Given the description of an element on the screen output the (x, y) to click on. 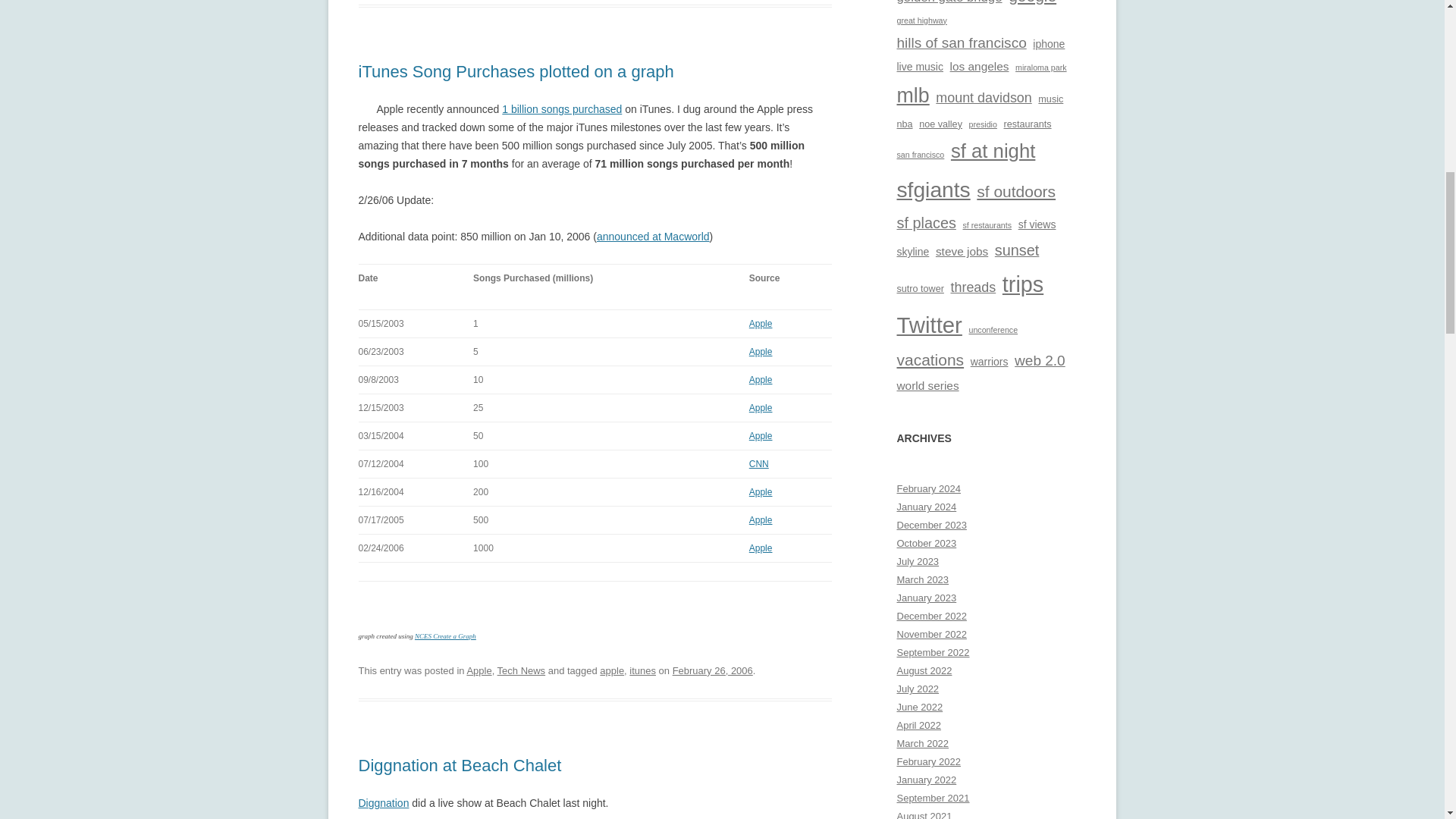
apple (611, 670)
iTunes Song Purchases plotted on a graph (515, 71)
3:51 am (712, 670)
NCES Create a Graph (445, 635)
Apple (761, 491)
Apple (761, 520)
CNN (758, 463)
Apple (761, 379)
Apple (478, 670)
Tech News (521, 670)
1 billion songs purchased (561, 109)
Apple (761, 323)
Apple (761, 435)
Apple (761, 407)
announced at Macworld (653, 236)
